Given the description of an element on the screen output the (x, y) to click on. 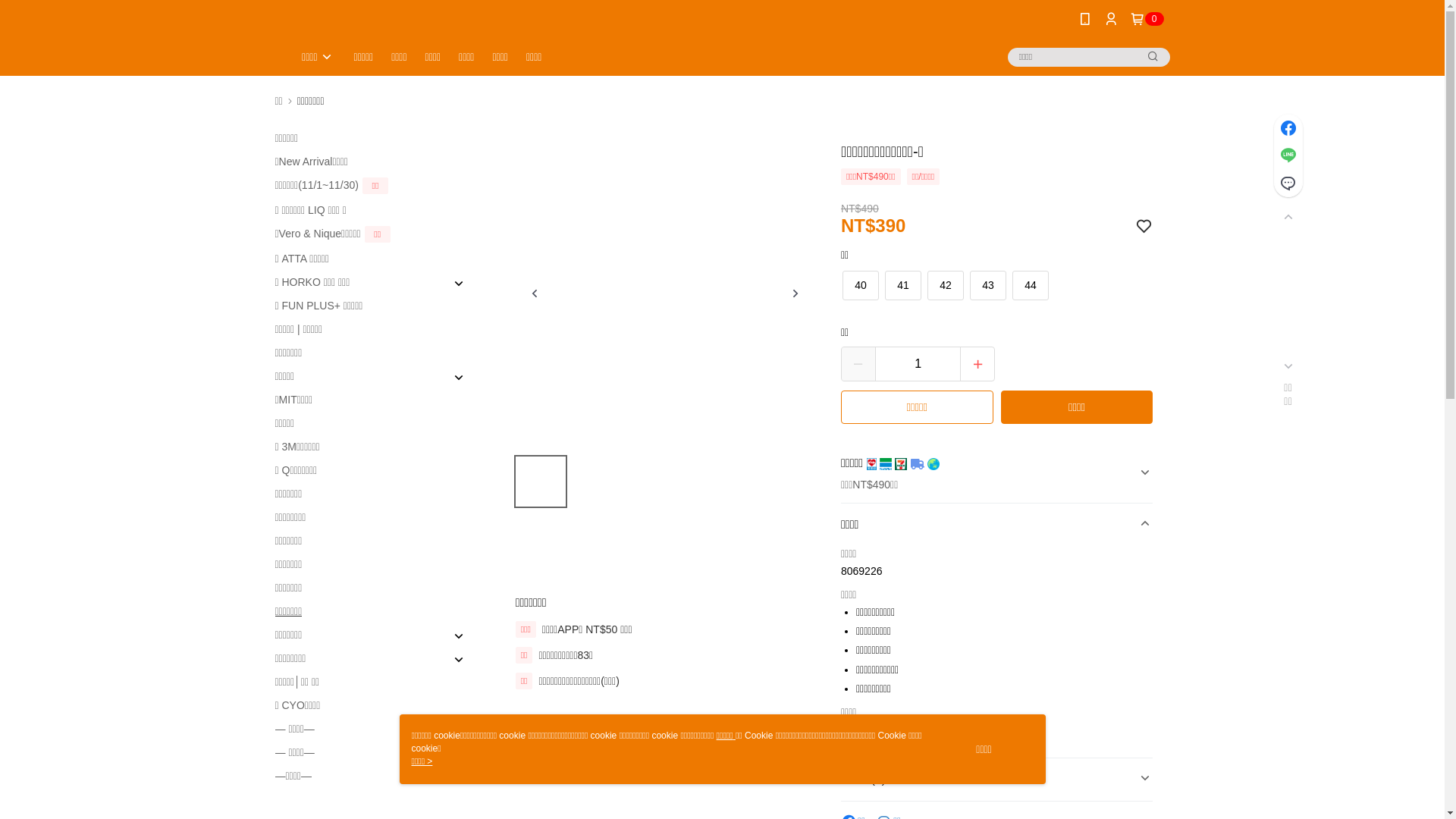
0 Element type: text (1146, 18)
41 Element type: text (902, 285)
40 Element type: text (860, 285)
44 Element type: text (1030, 285)
43 Element type: text (987, 285)
42 Element type: text (945, 285)
